Given the description of an element on the screen output the (x, y) to click on. 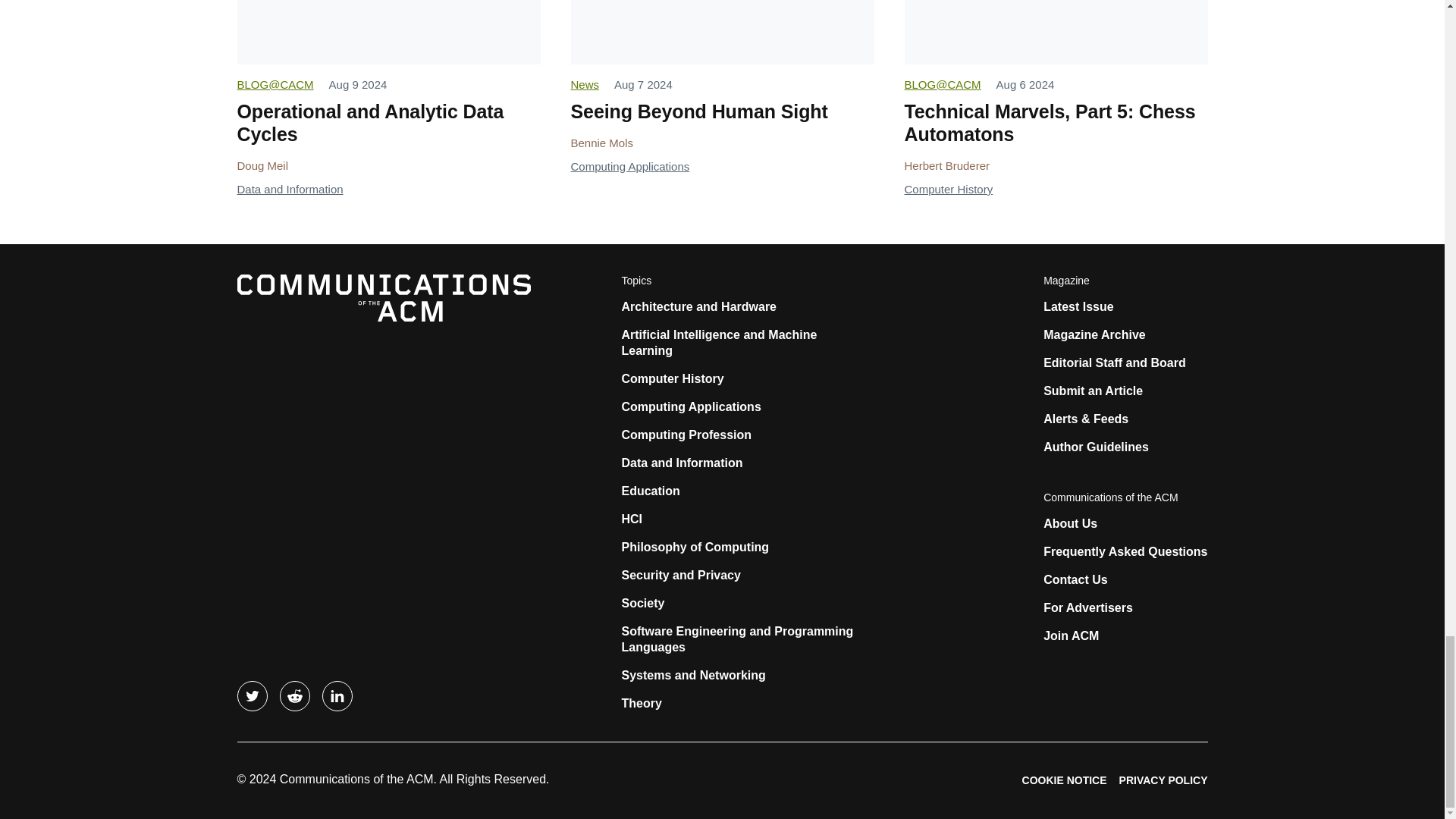
Posts by Doug Meil (261, 164)
Posts by Bennie Mols (601, 142)
Posts by Herbert Bruderer (947, 164)
